Given the description of an element on the screen output the (x, y) to click on. 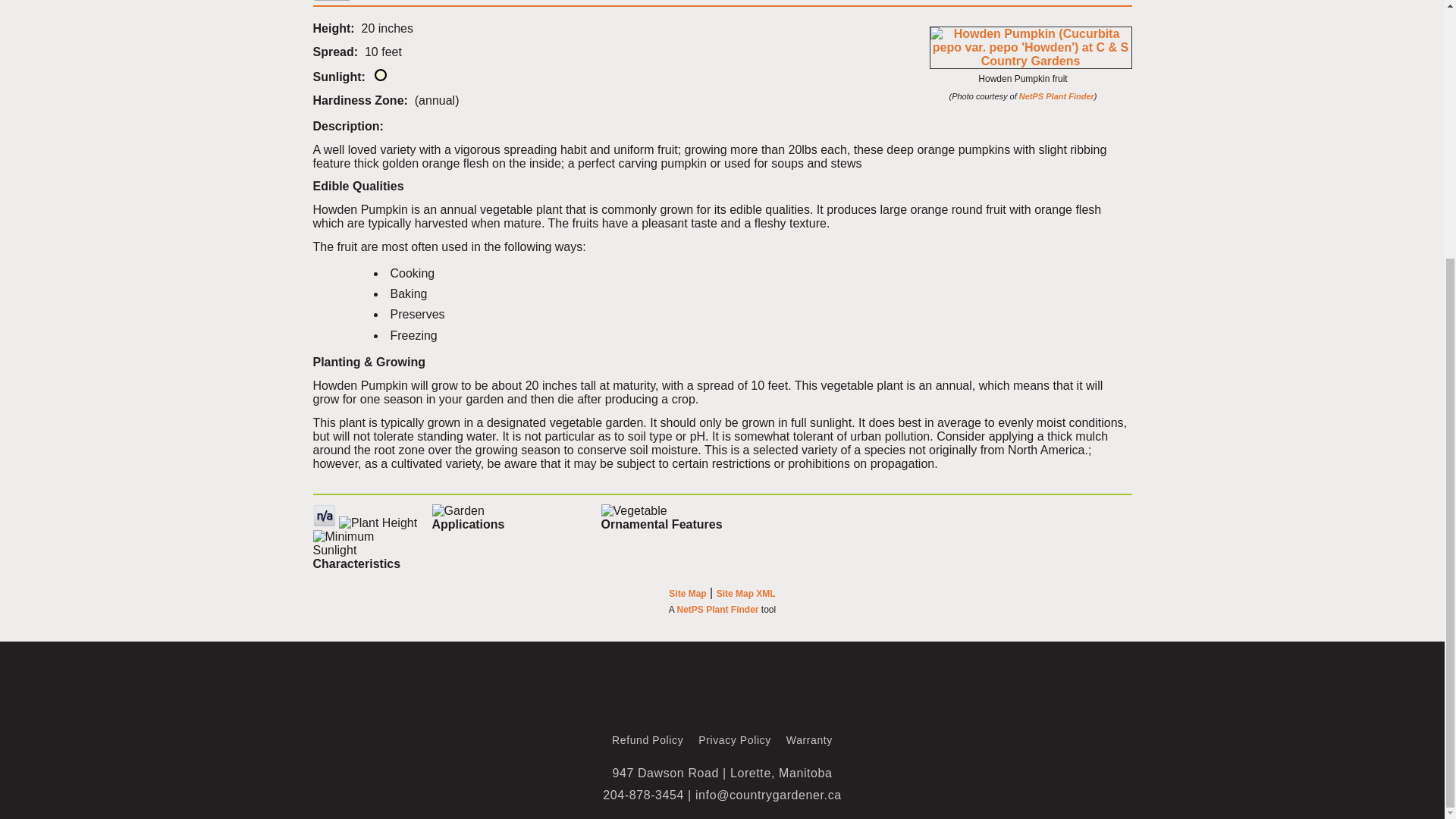
Vegetable (632, 510)
full sun (380, 74)
Garden (458, 510)
NetPS Plant Finder (1056, 95)
Minimum Sunlight (366, 543)
Hardiness Zone (323, 515)
Plant Height (377, 522)
